Given the description of an element on the screen output the (x, y) to click on. 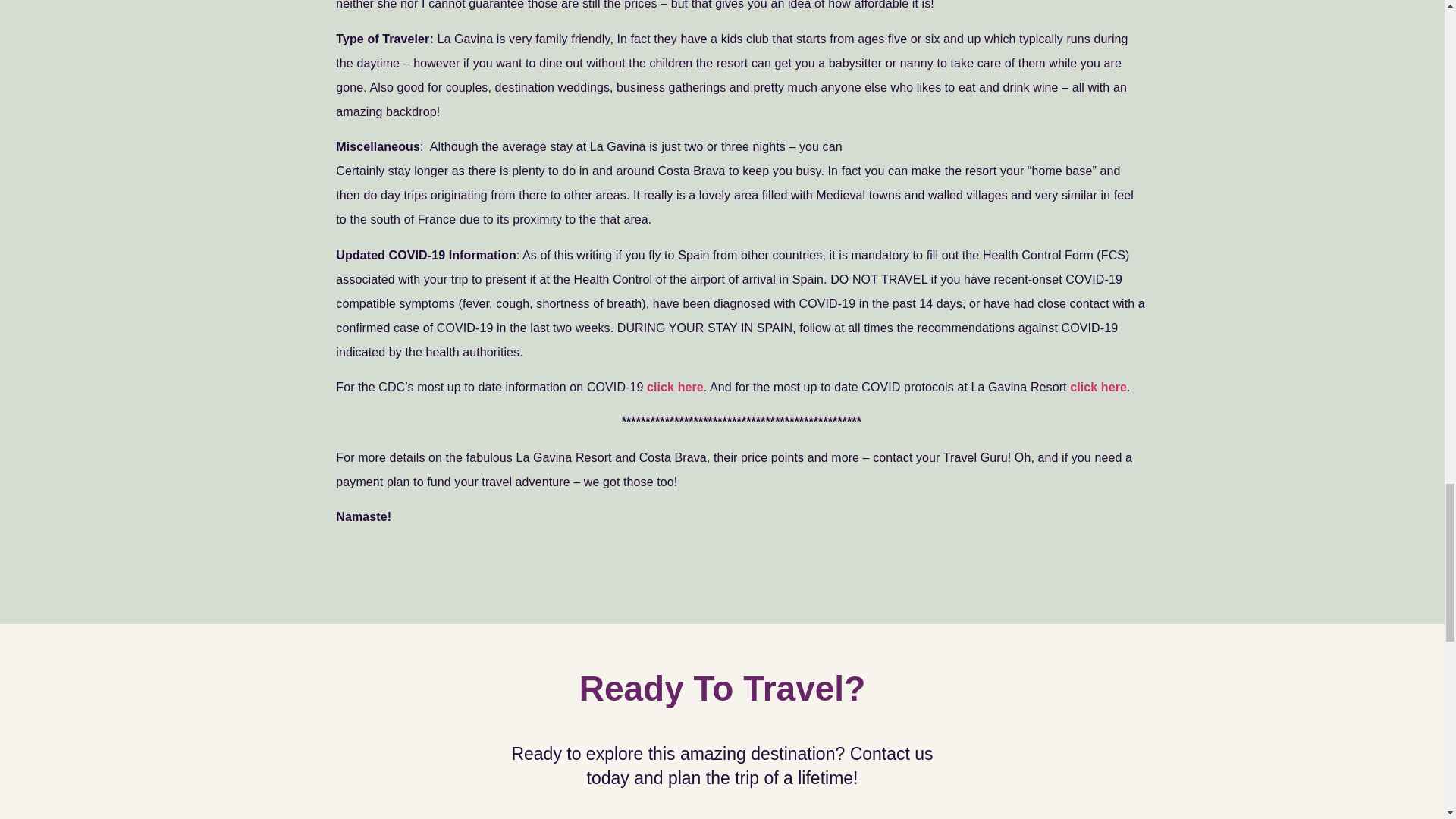
click here (674, 386)
click here (1098, 386)
points  (789, 457)
